Given the description of an element on the screen output the (x, y) to click on. 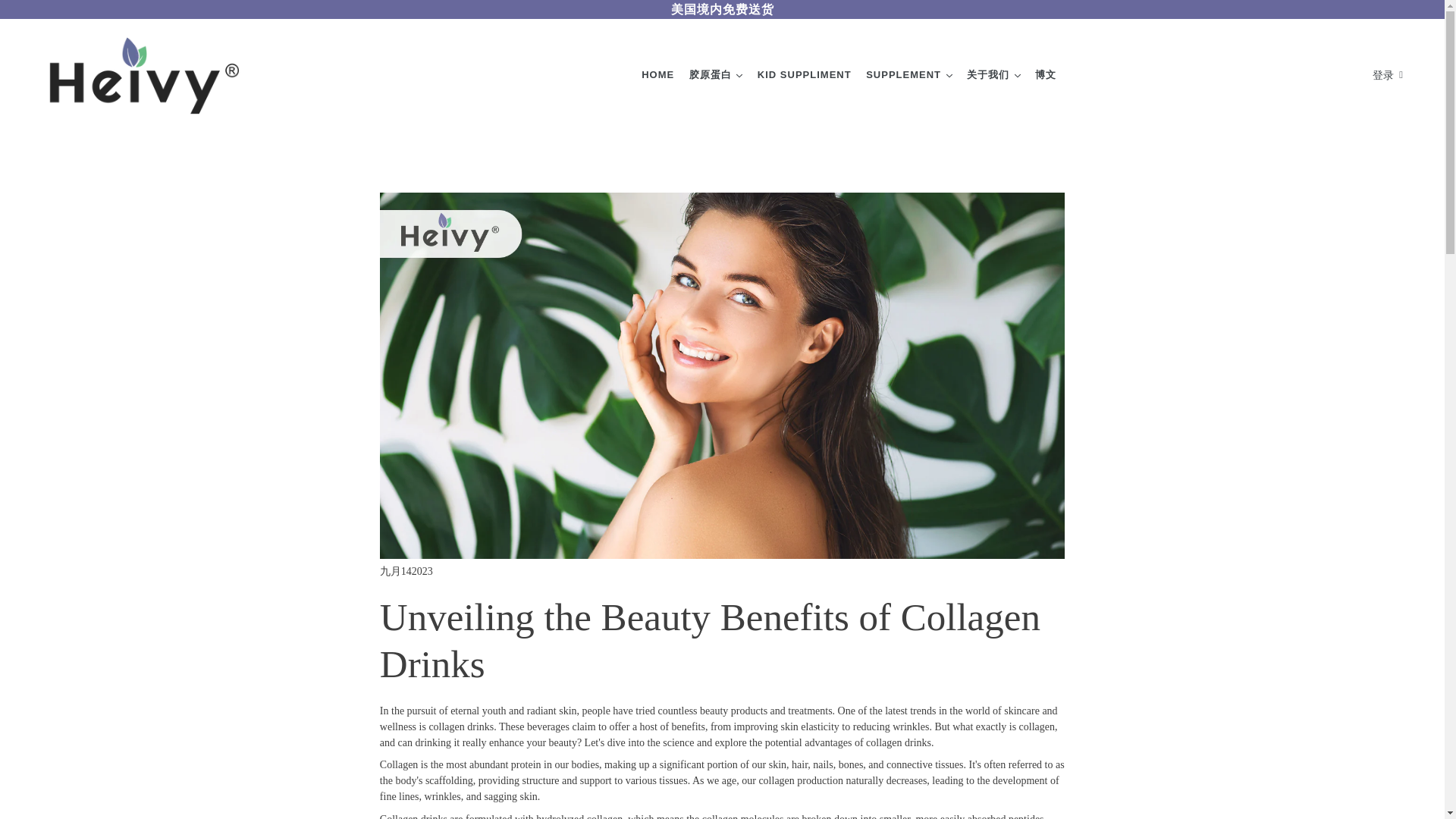
HOME (656, 74)
